Given the description of an element on the screen output the (x, y) to click on. 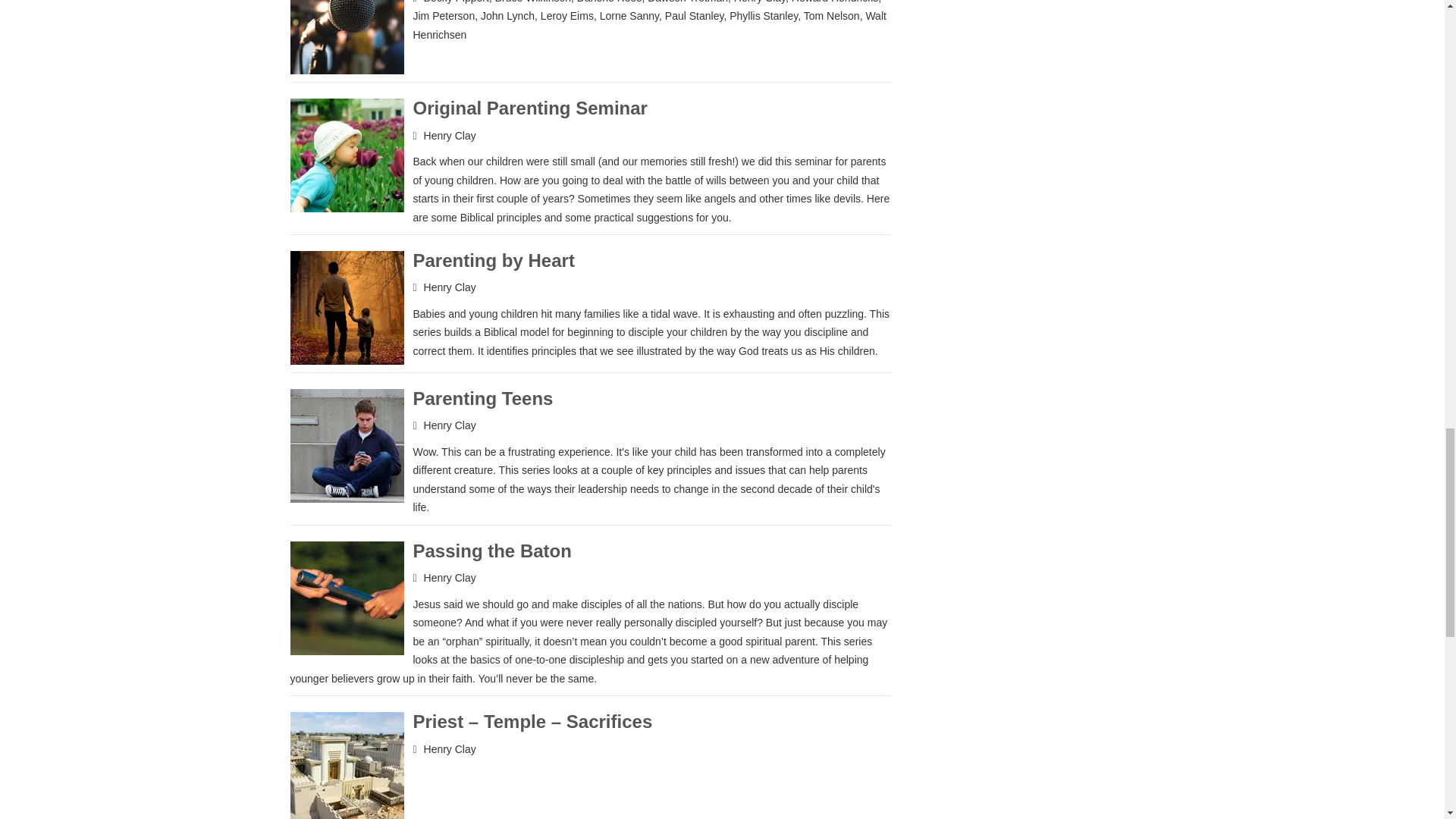
Jim Peterson (443, 15)
Leroy Eims (567, 15)
John Lynch (507, 15)
Howard Hendricks (834, 2)
Lorne Sanny (629, 15)
Darlene Rose (609, 2)
Henry Clay (759, 2)
Becky Pippert (456, 2)
Bruce Wilkinson (532, 2)
Dawson Trotman (687, 2)
Paul Stanley (694, 15)
